Given the description of an element on the screen output the (x, y) to click on. 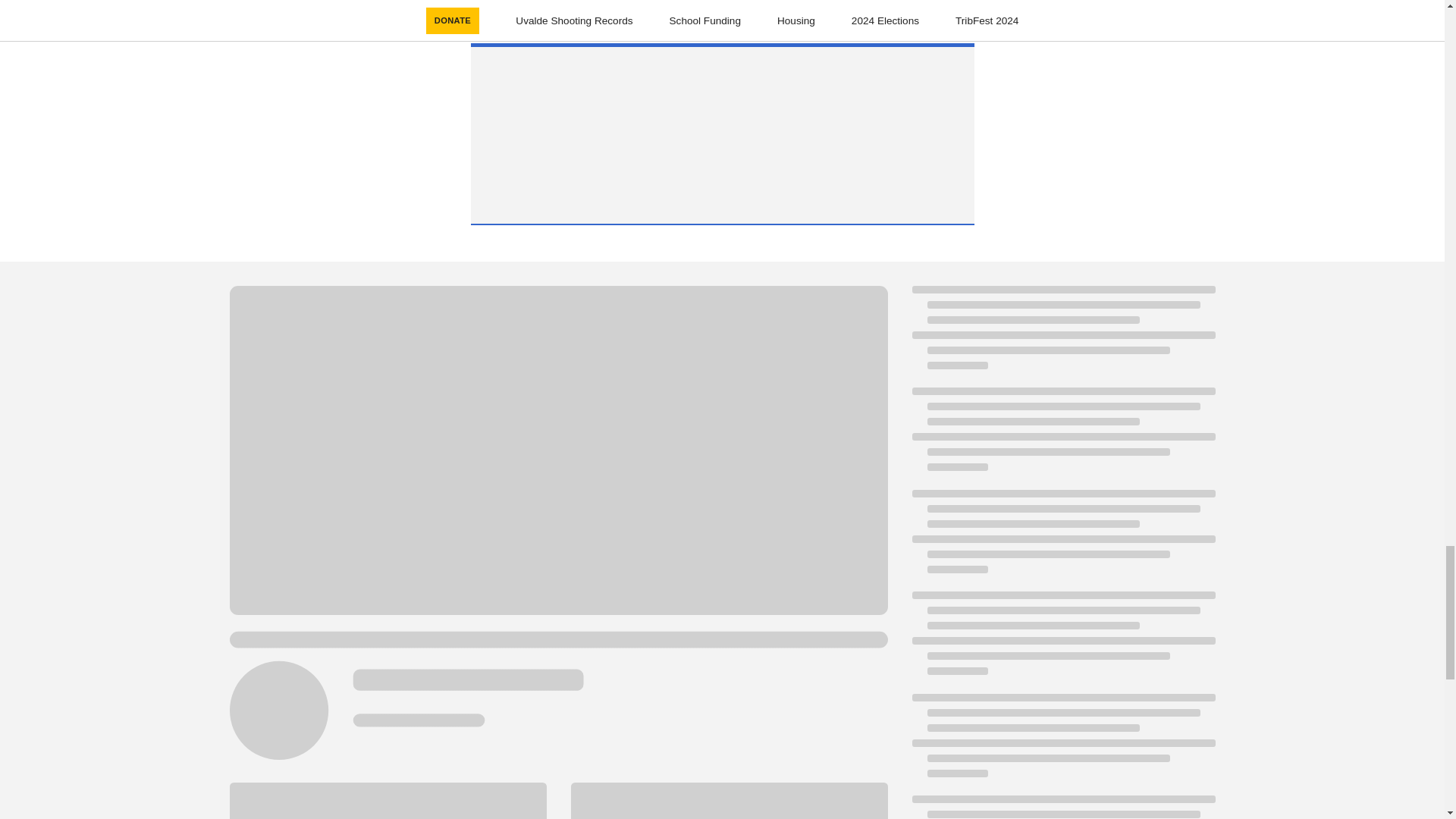
Loading indicator (1062, 640)
Loading indicator (1062, 436)
Loading indicator (1062, 742)
Loading indicator (1062, 538)
Loading indicator (1062, 334)
Loading indicator (1062, 807)
